Given the description of an element on the screen output the (x, y) to click on. 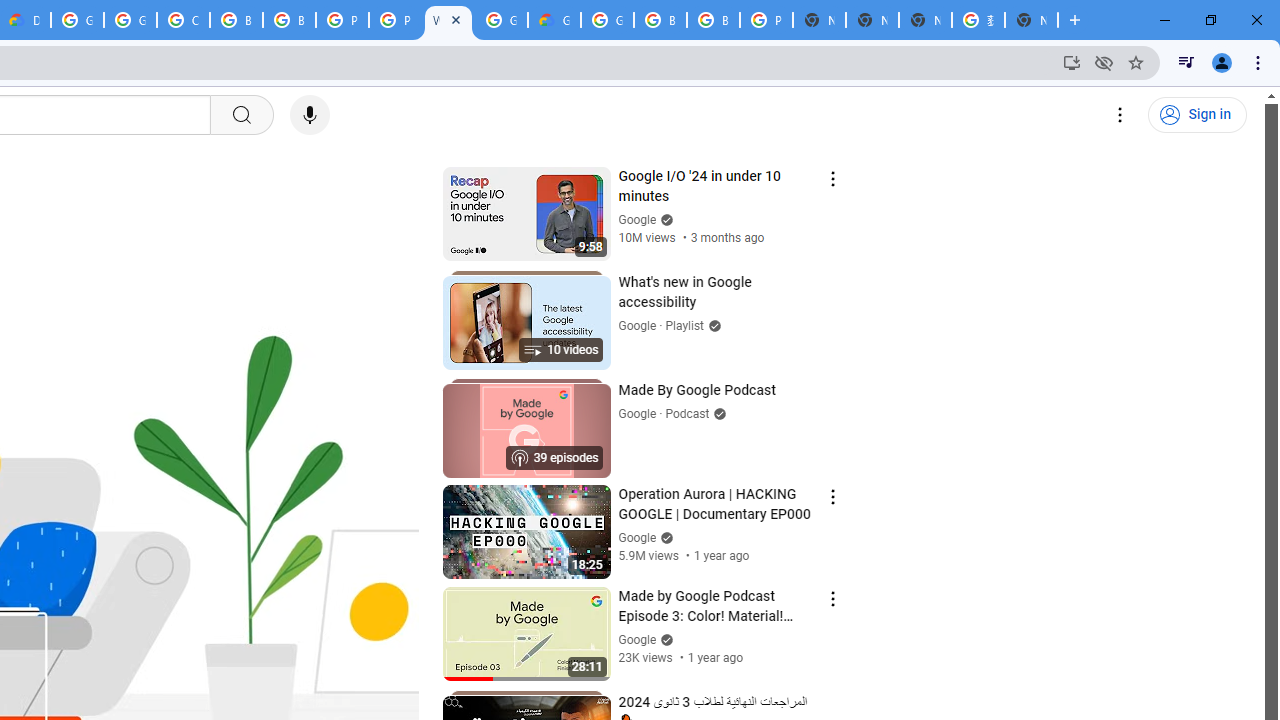
Verified (664, 639)
